Given the description of an element on the screen output the (x, y) to click on. 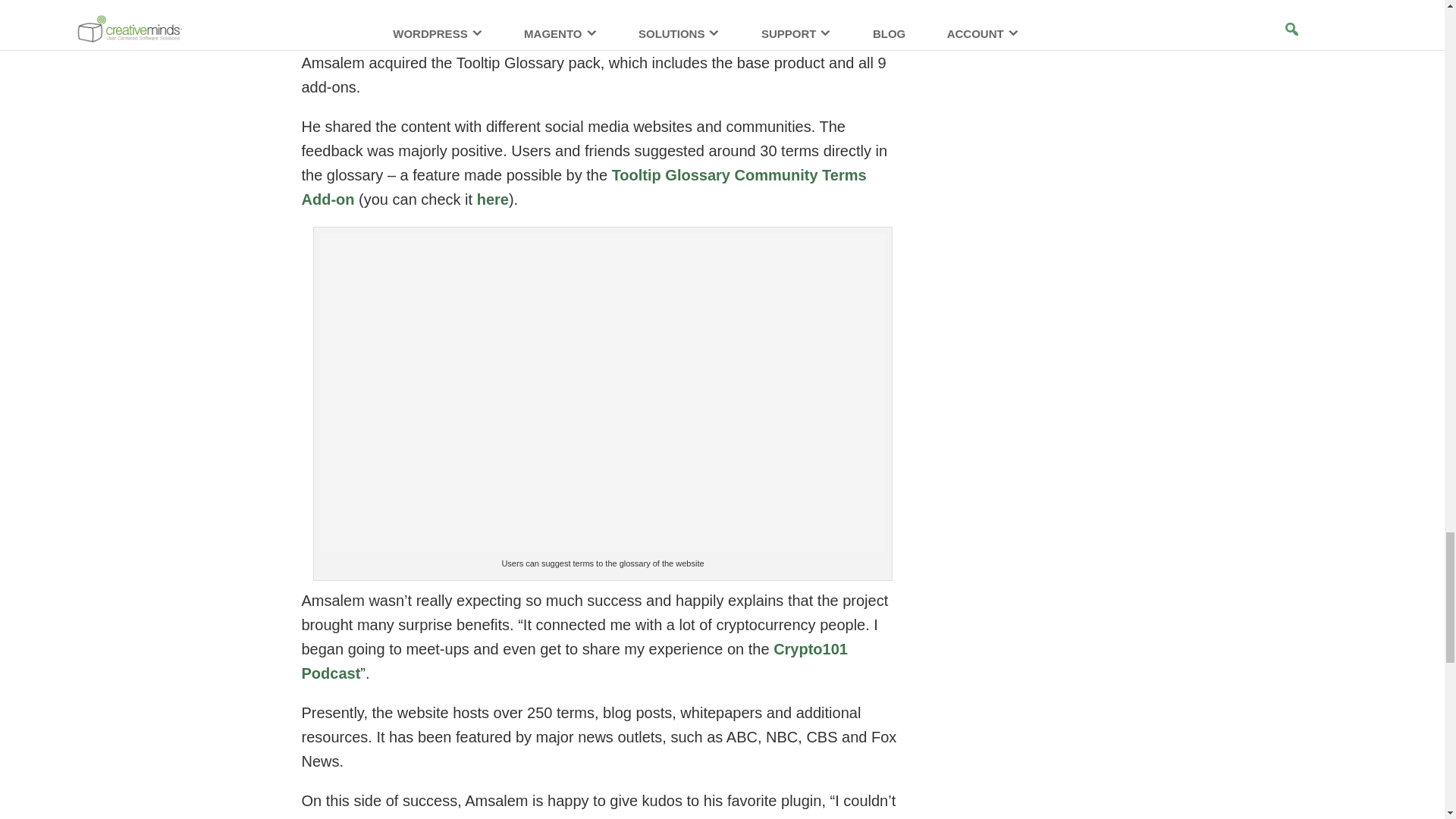
Tooltip Glossary Community Terms Add-on (583, 187)
